Given the description of an element on the screen output the (x, y) to click on. 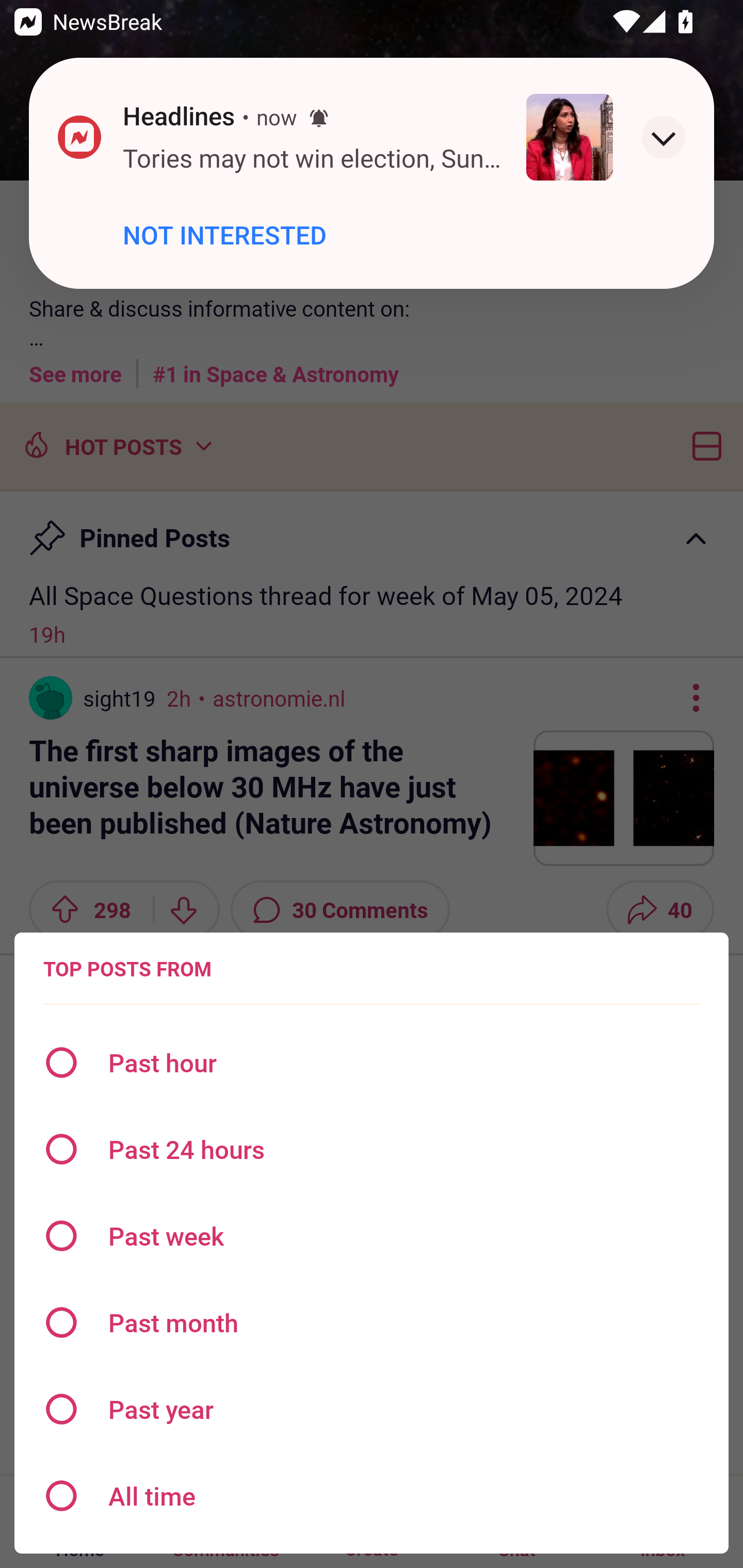
TOP POSTS FROM (127, 968)
Past hour (371, 1062)
Past 24 hours (371, 1149)
Past week (371, 1236)
Past month (371, 1322)
Past year (371, 1408)
All time (371, 1495)
